Given the description of an element on the screen output the (x, y) to click on. 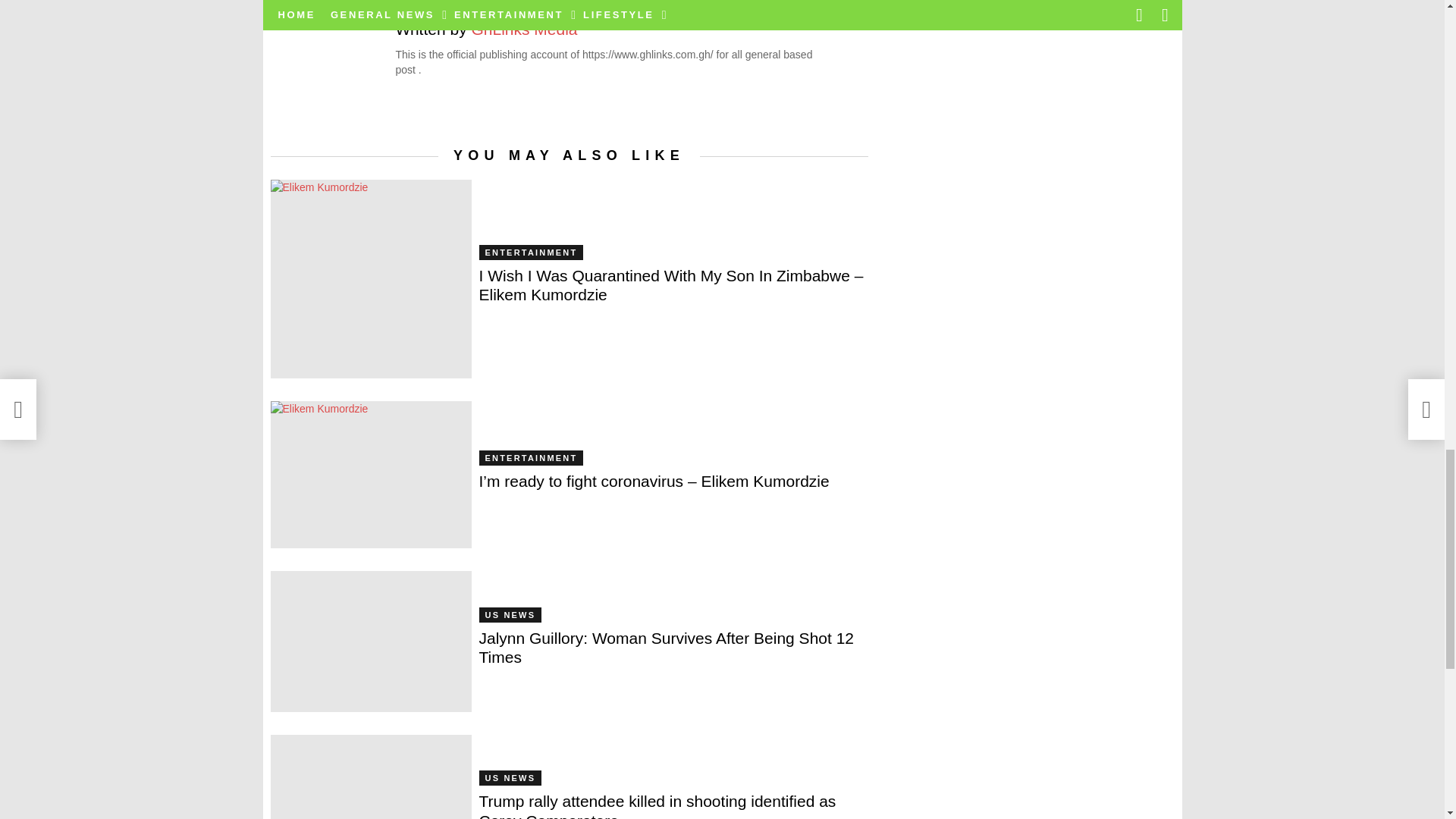
Jalynn Guillory: Woman Survives After Being Shot 12 Times (369, 640)
ENTERTAINMENT (531, 252)
GhLinks Media (523, 28)
